Given the description of an element on the screen output the (x, y) to click on. 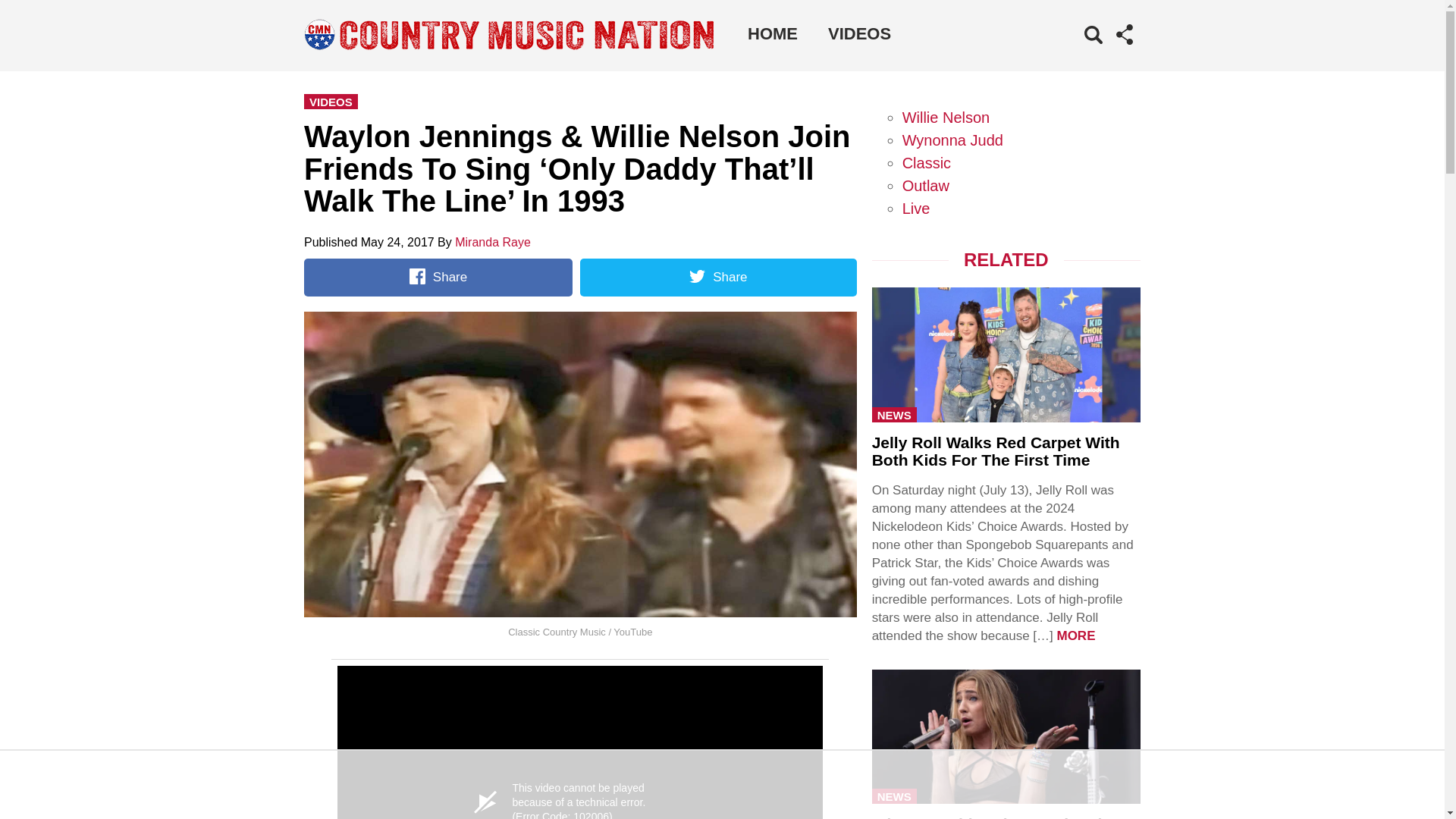
VIDEOS (331, 101)
VIDEOS (858, 33)
Share (717, 277)
Search (1071, 57)
Search (1071, 57)
HOME (772, 33)
Miranda Raye (492, 241)
Search (1071, 57)
Live (916, 208)
Share (438, 277)
Videos (858, 33)
Wynonna Judd (952, 139)
Outlaw (925, 185)
